Given the description of an element on the screen output the (x, y) to click on. 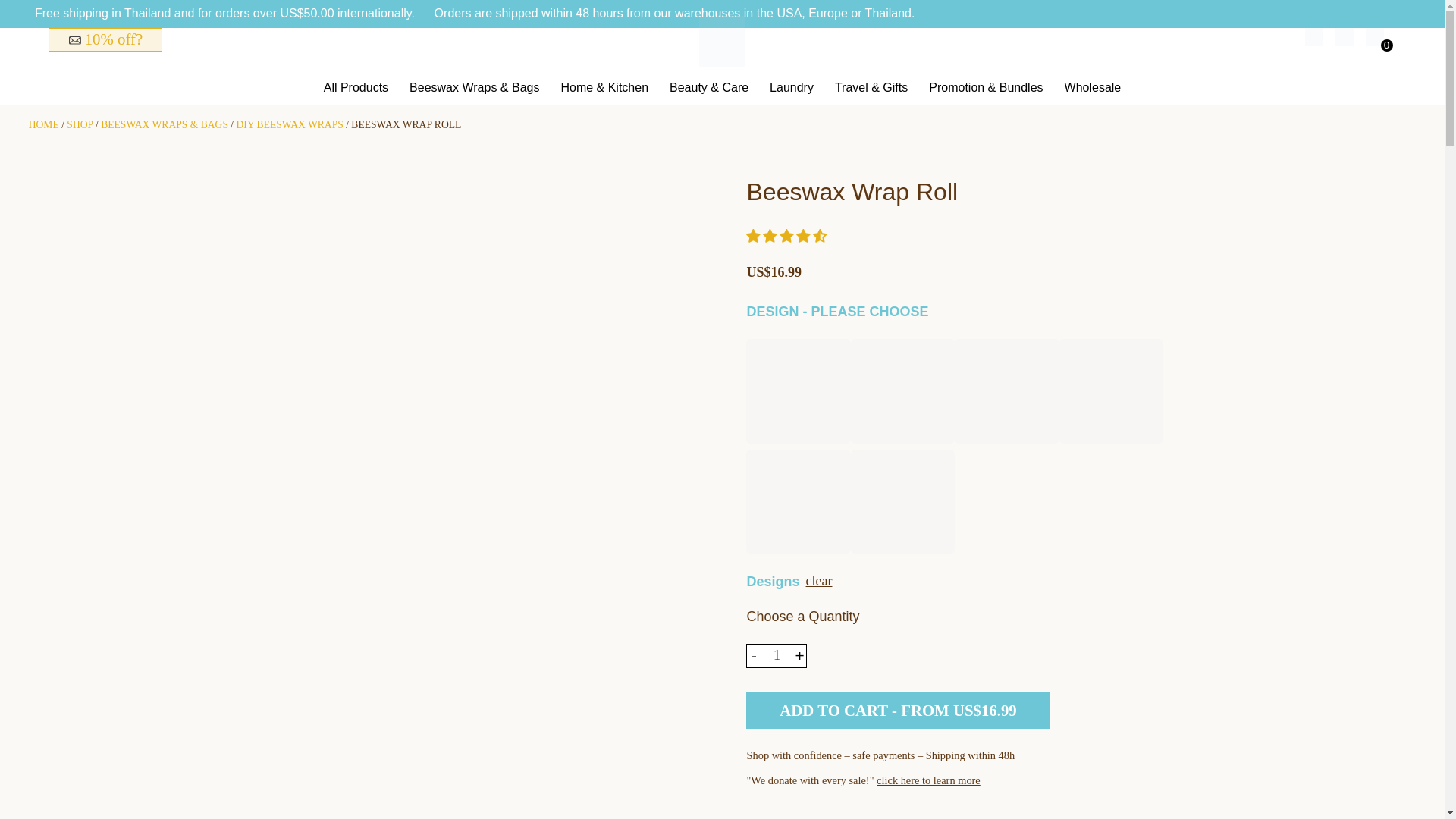
Christmas trees (902, 504)
Laundry (791, 88)
Dogs (797, 504)
Wholesale (1092, 88)
Passion Som (902, 394)
Hexagonia (797, 394)
Pears (1007, 394)
SHOP (79, 124)
Elephants (1111, 394)
HOME (44, 124)
1 (776, 655)
All Products (355, 88)
